Given the description of an element on the screen output the (x, y) to click on. 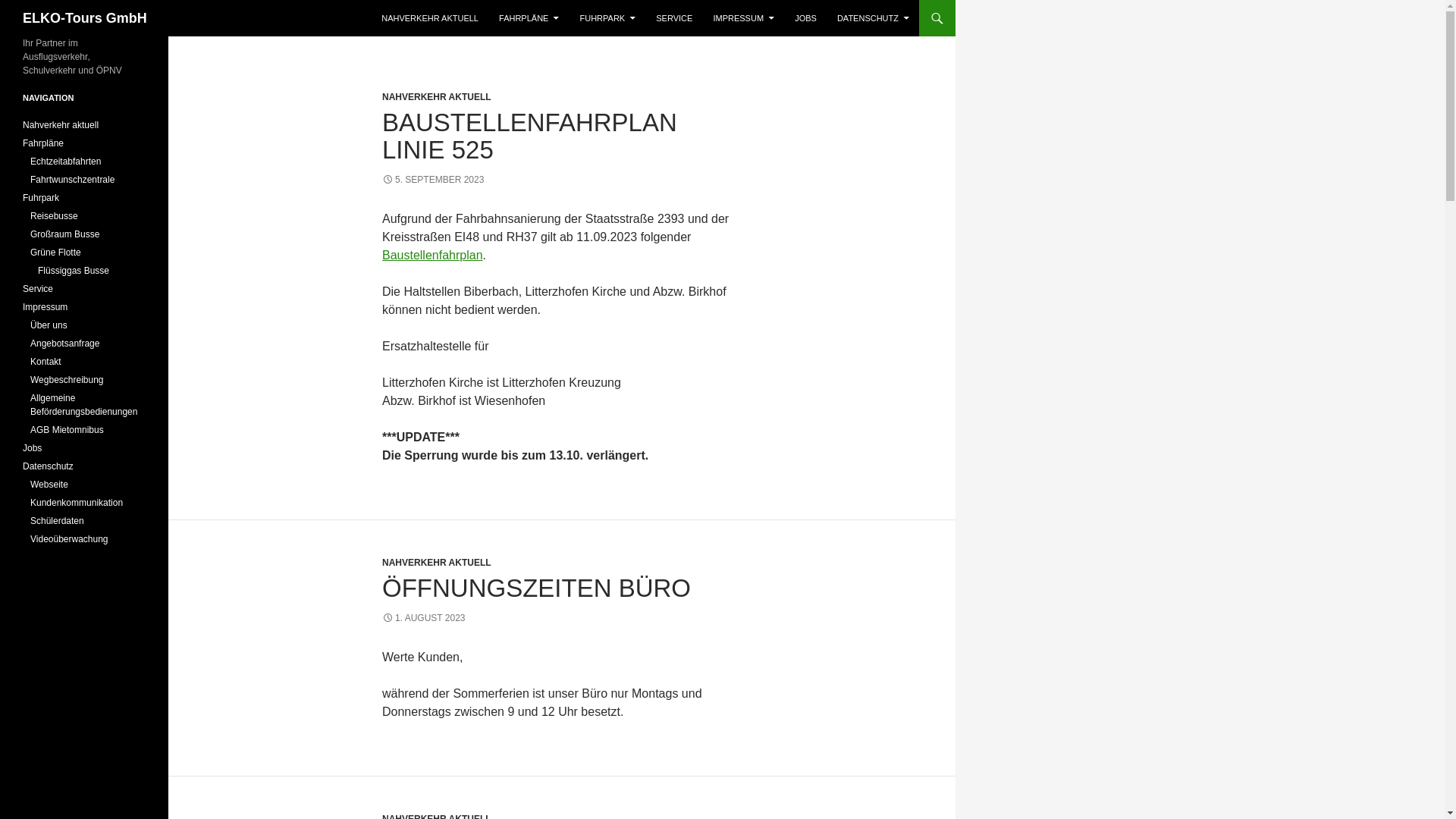
Fuhrpark Element type: text (40, 197)
Datenschutz Element type: text (47, 466)
NAHVERKEHR AKTUELL Element type: text (429, 18)
JOBS Element type: text (805, 18)
Jobs Element type: text (31, 447)
Kontakt Element type: text (45, 361)
Service Element type: text (37, 288)
Fahrtwunschzentrale Element type: text (72, 179)
Reisebusse Element type: text (54, 215)
Webseite Element type: text (49, 484)
Nahverkehr aktuell Element type: text (60, 124)
AGB Mietomnibus Element type: text (66, 429)
5. SEPTEMBER 2023 Element type: text (432, 179)
BAUSTELLENFAHRPLAN LINIE 525 Element type: text (529, 135)
SERVICE Element type: text (673, 18)
Wegbeschreibung Element type: text (66, 379)
NAHVERKEHR AKTUELL Element type: text (436, 96)
NAHVERKEHR AKTUELL Element type: text (436, 562)
DATENSCHUTZ Element type: text (873, 18)
ELKO-Tours GmbH Element type: text (84, 18)
Echtzeitabfahrten Element type: text (65, 161)
IMPRESSUM Element type: text (743, 18)
Impressum Element type: text (44, 306)
Angebotsanfrage Element type: text (64, 343)
FUHRPARK Element type: text (608, 18)
1. AUGUST 2023 Element type: text (423, 617)
Kundenkommunikation Element type: text (76, 502)
Baustellenfahrplan Element type: text (432, 254)
